Given the description of an element on the screen output the (x, y) to click on. 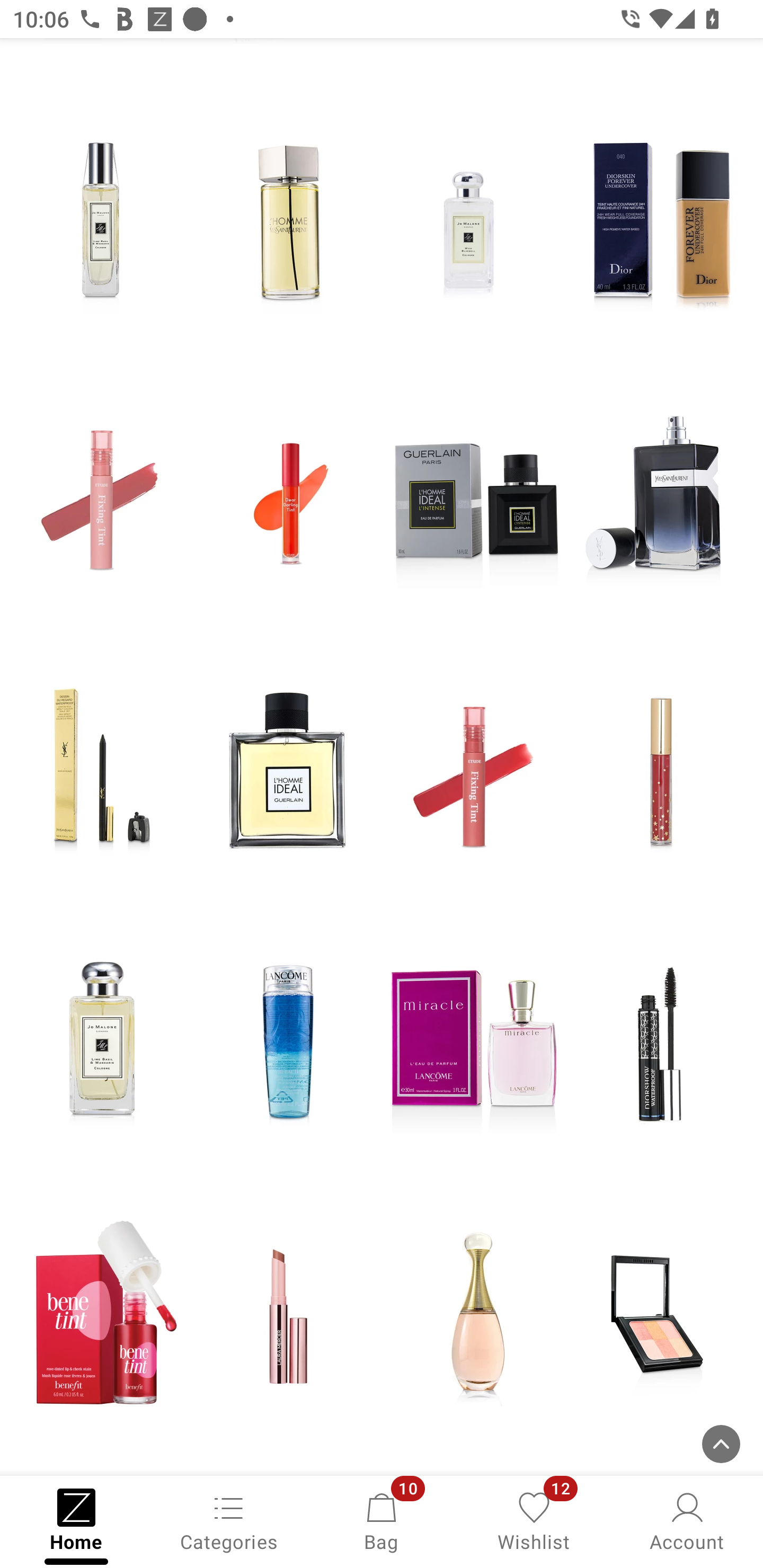
Categories (228, 1519)
Bag, 10 new notifications Bag (381, 1519)
Wishlist, 12 new notifications Wishlist (533, 1519)
Account (686, 1519)
